Given the description of an element on the screen output the (x, y) to click on. 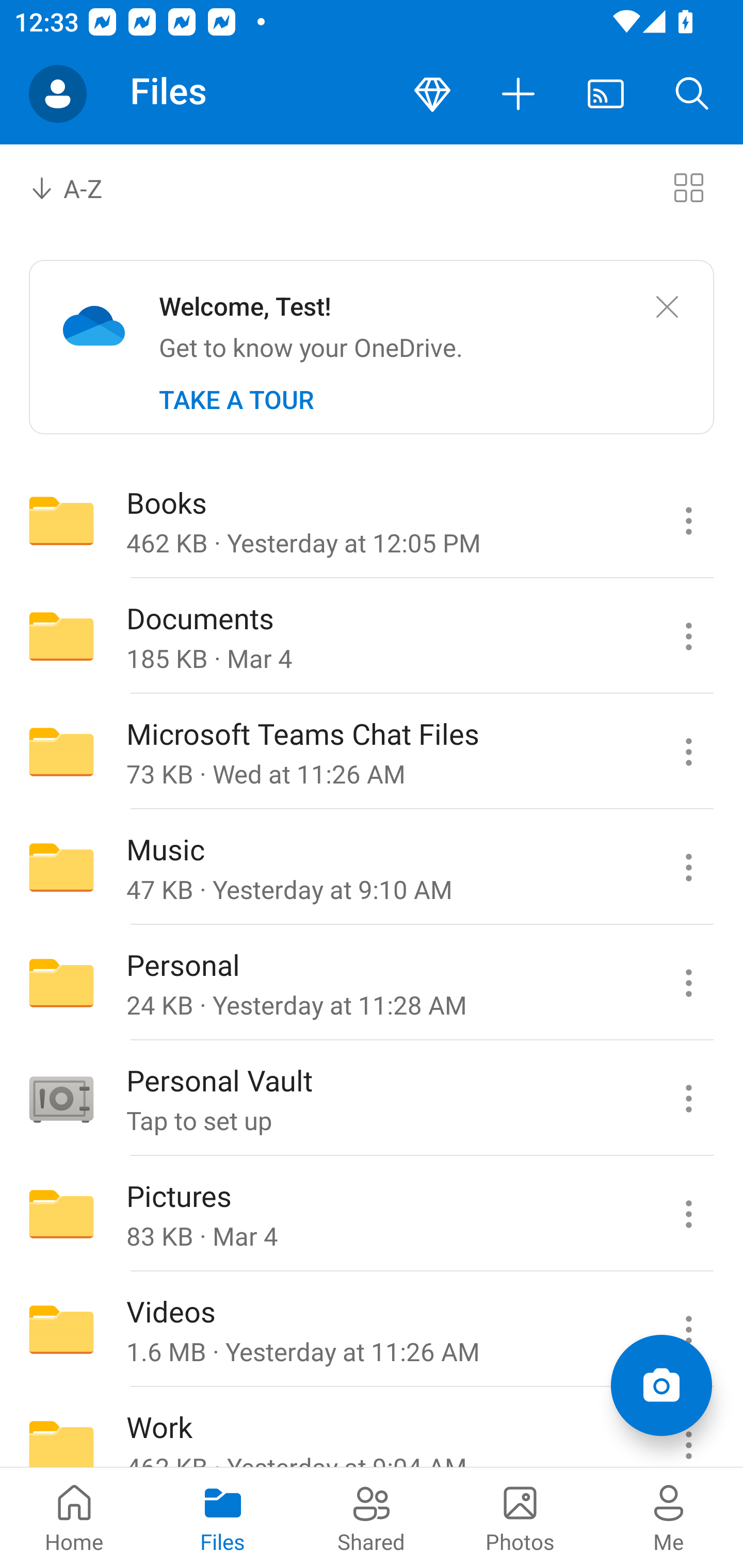
Account switcher (57, 93)
Cast. Disconnected (605, 93)
Premium button (432, 93)
More actions button (518, 93)
Search button (692, 93)
A-Z Sort by combo box, sort by name, A to Z (80, 187)
Switch to tiles view (688, 187)
Close (667, 307)
TAKE A TOUR (236, 399)
Books commands (688, 520)
Folder Documents 185 KB · Mar 4 Documents commands (371, 636)
Documents commands (688, 636)
Microsoft Teams Chat Files commands (688, 751)
Music commands (688, 867)
Personal commands (688, 983)
Personal Vault commands (688, 1099)
Folder Pictures 83 KB · Mar 4 Pictures commands (371, 1214)
Pictures commands (688, 1214)
Videos commands (688, 1329)
Add items Scan (660, 1385)
Work commands (688, 1427)
Home pivot Home (74, 1517)
Shared pivot Shared (371, 1517)
Photos pivot Photos (519, 1517)
Me pivot Me (668, 1517)
